Given the description of an element on the screen output the (x, y) to click on. 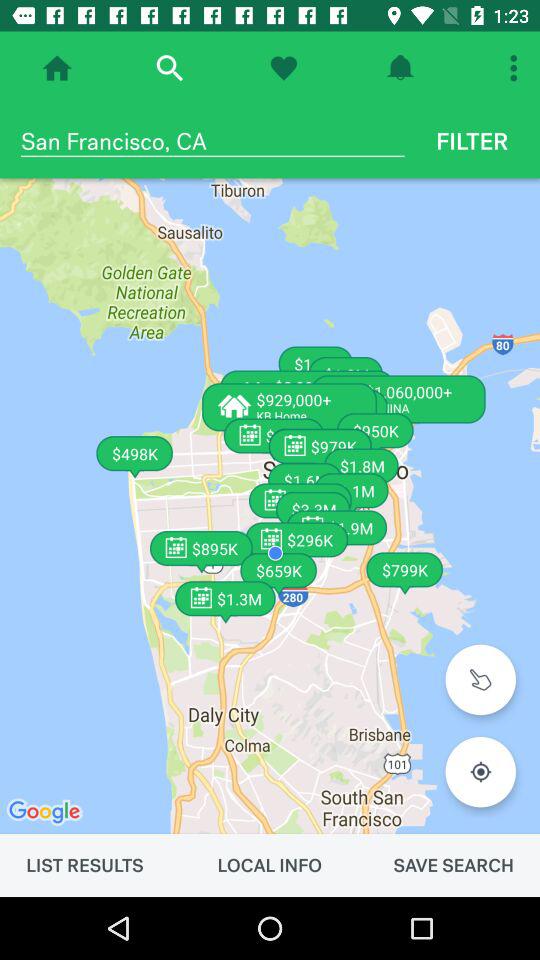
press item below the filter item (270, 505)
